Given the description of an element on the screen output the (x, y) to click on. 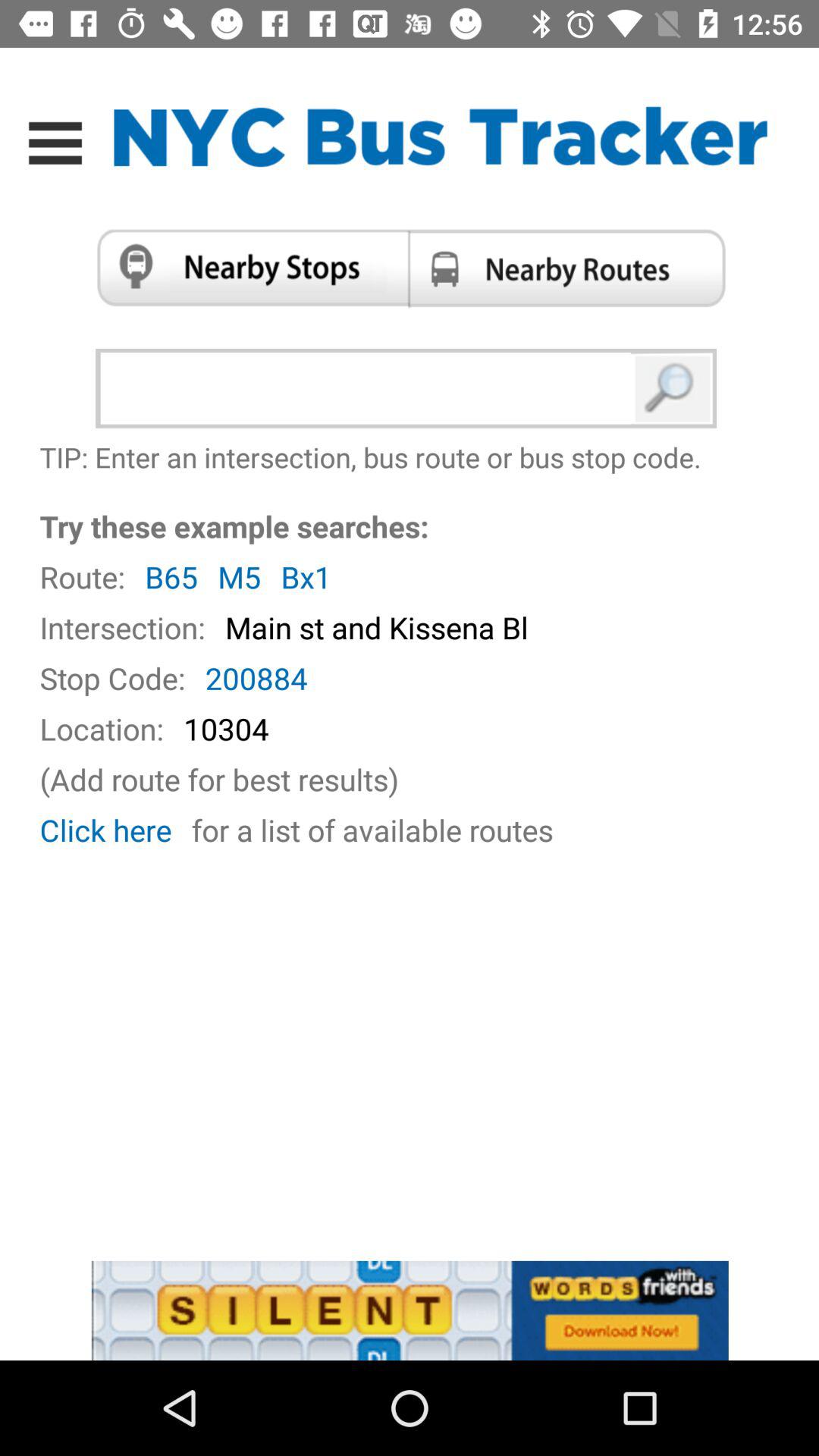
search option (673, 388)
